Given the description of an element on the screen output the (x, y) to click on. 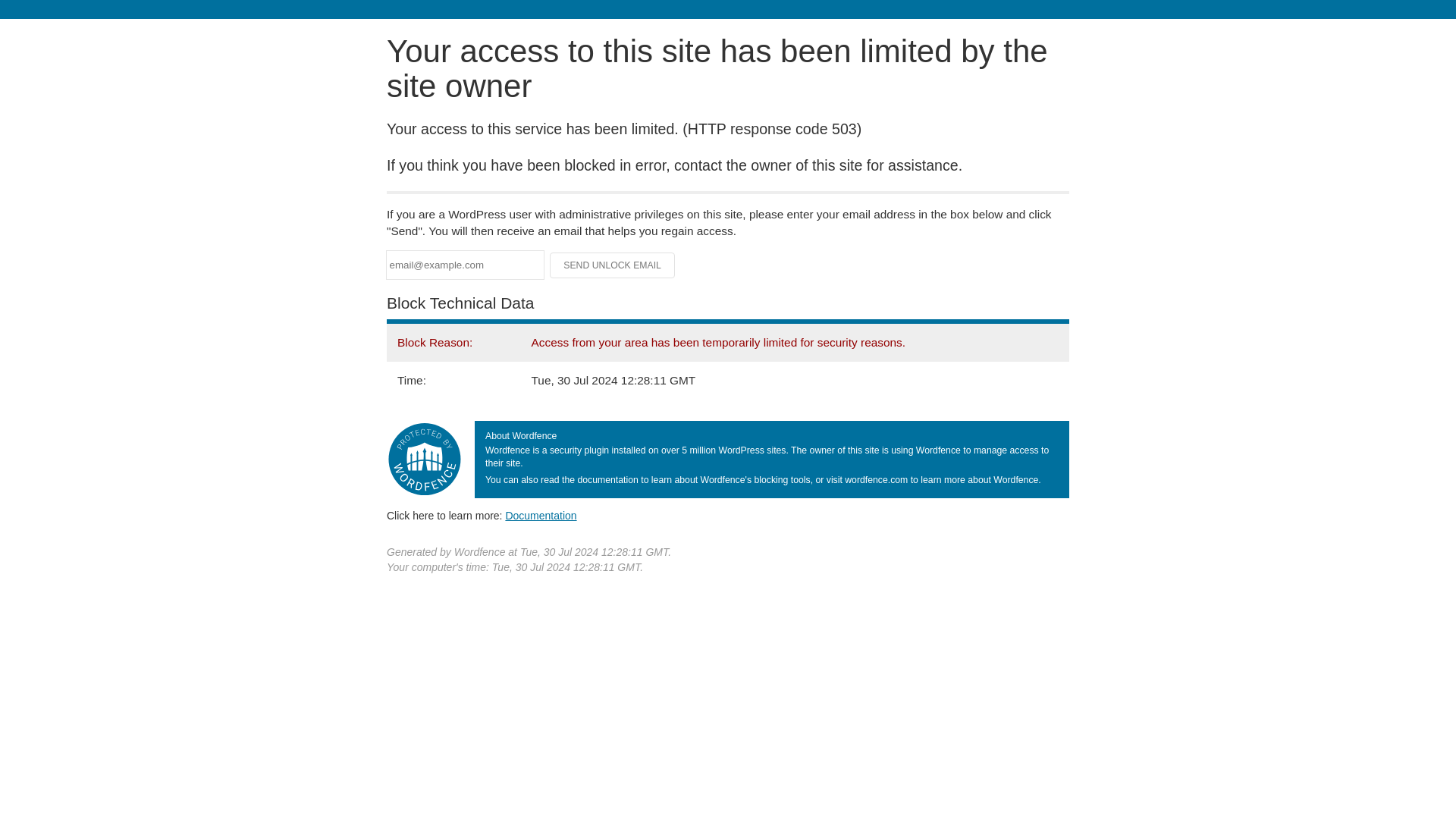
Send Unlock Email (612, 265)
Send Unlock Email (612, 265)
Documentation (540, 515)
